Given the description of an element on the screen output the (x, y) to click on. 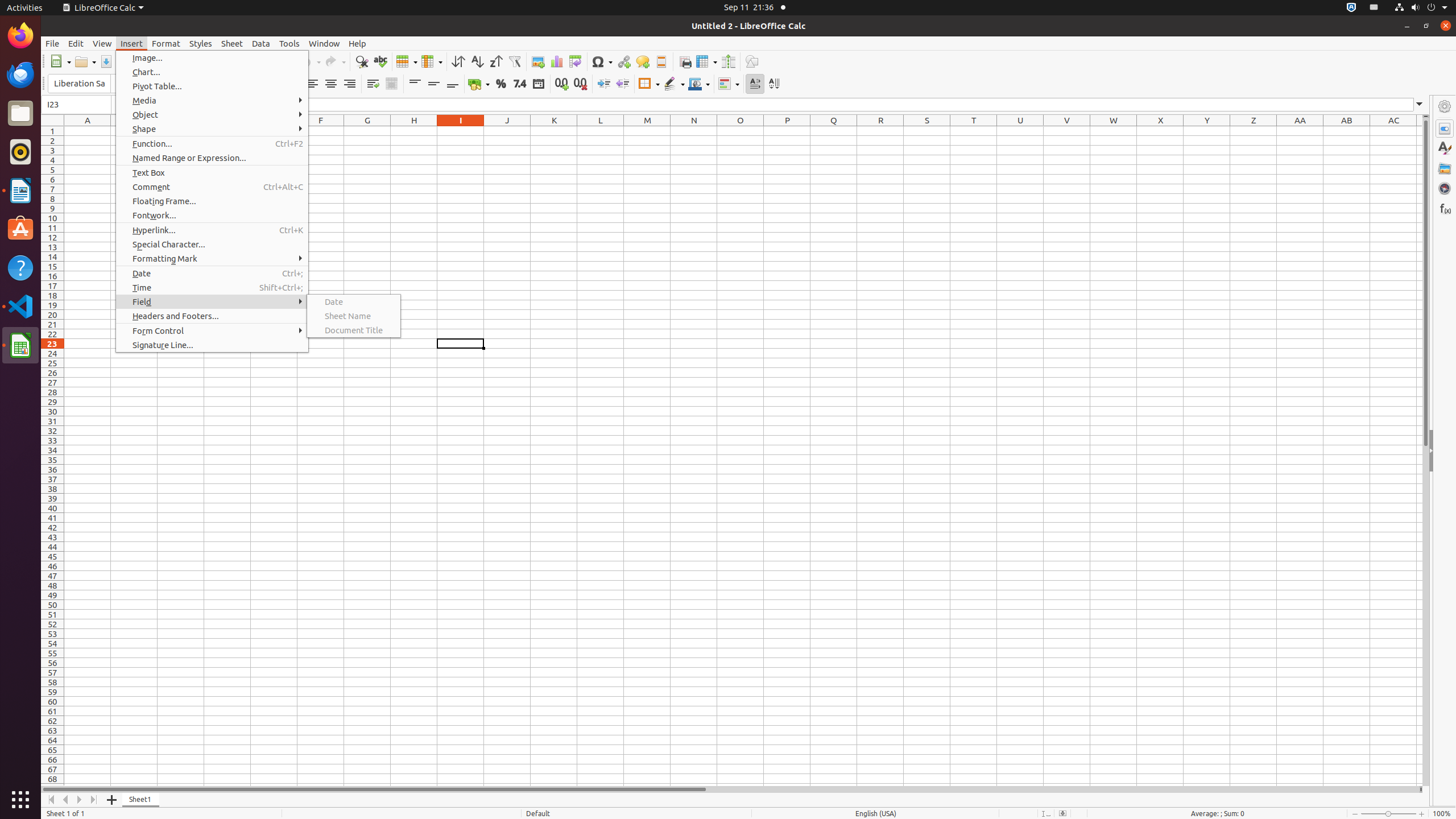
A1 Element type: table-cell (87, 130)
File Element type: menu (51, 43)
